Given the description of an element on the screen output the (x, y) to click on. 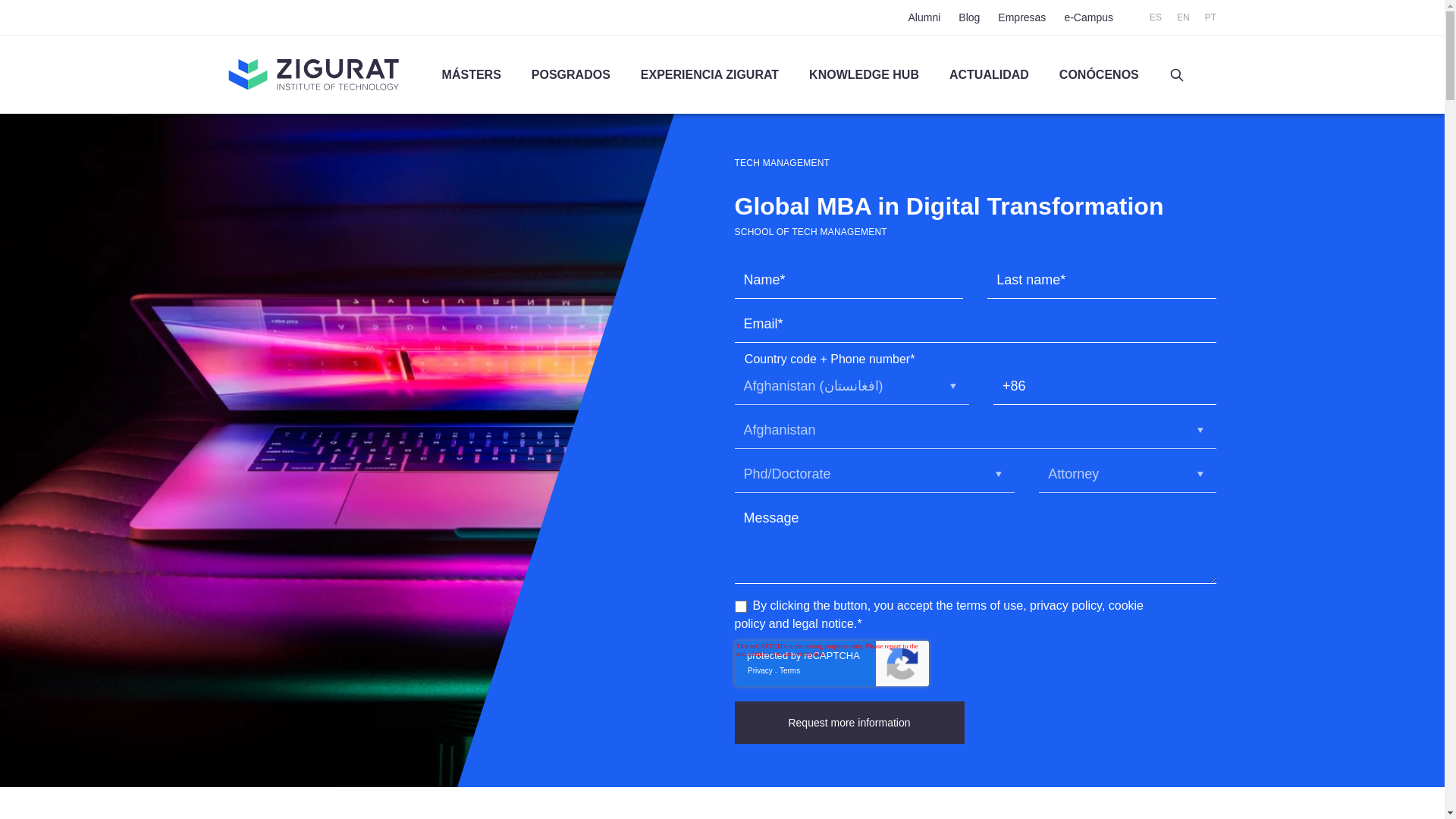
Blog (968, 17)
ES (1155, 17)
Alumni (924, 17)
Request more information (848, 722)
Empresas (1021, 17)
reCAPTCHA (830, 663)
true (739, 606)
PT (1210, 17)
EN (1182, 17)
e-Campus (1088, 17)
